Given the description of an element on the screen output the (x, y) to click on. 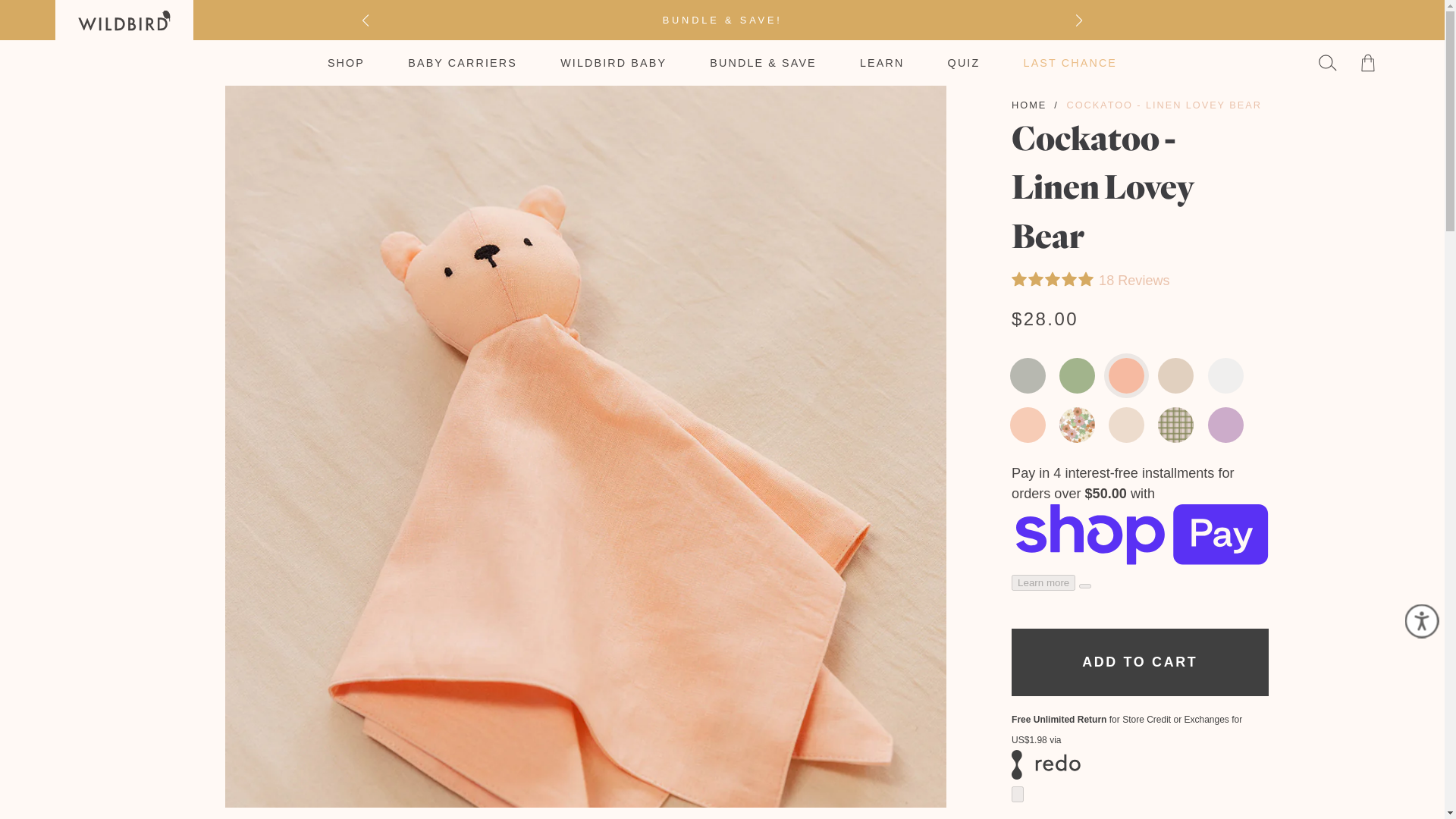
LAST CHANCE (1069, 62)
SHOP (346, 62)
QUIZ (963, 62)
Home (1028, 104)
LEARN (882, 62)
WILDBIRD BABY (613, 62)
ICON-SEARCH (1327, 62)
BABY CARRIERS (461, 62)
